Given the description of an element on the screen output the (x, y) to click on. 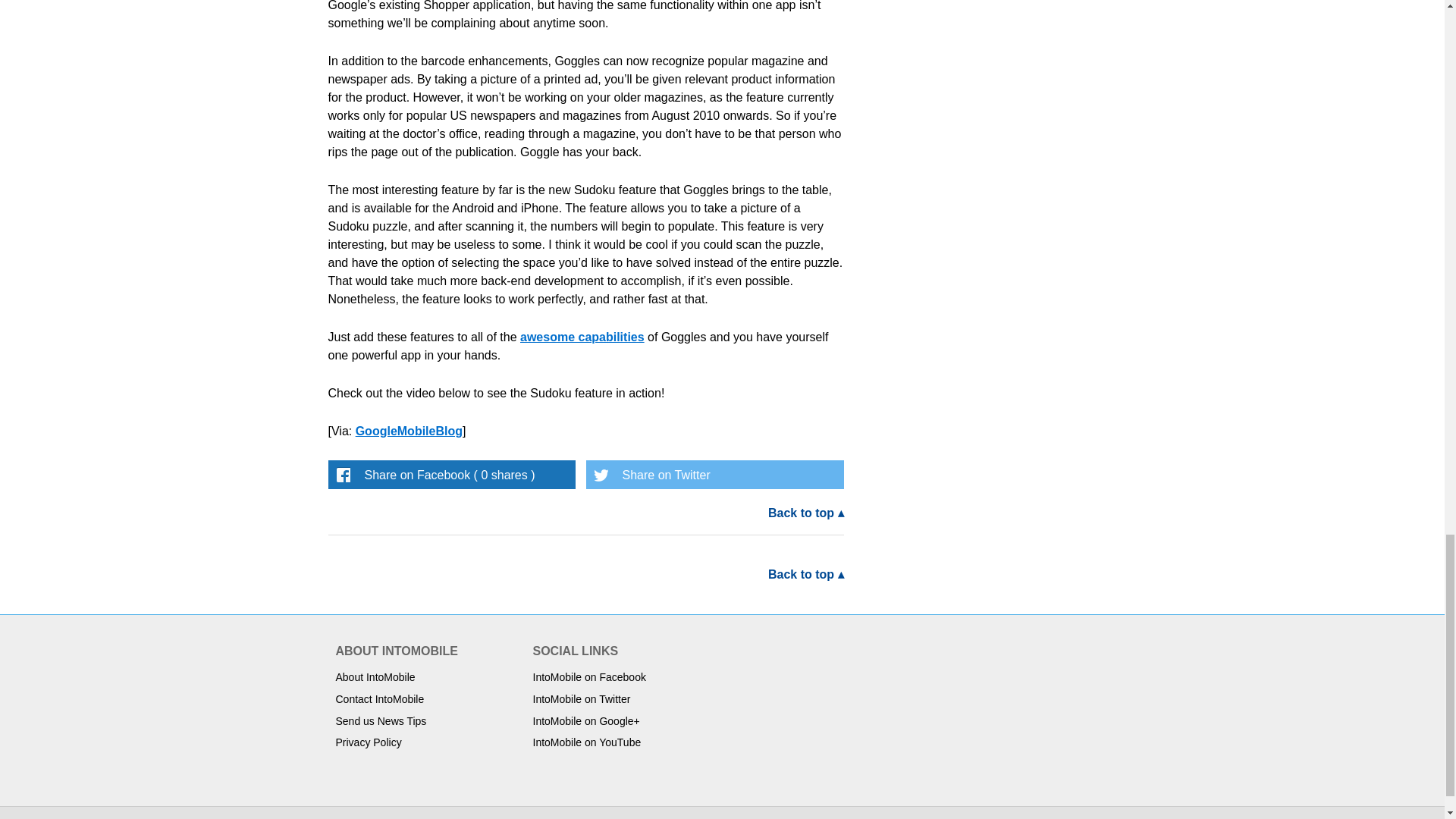
awesome capabilities (582, 336)
Share on Twitter (714, 474)
GoogleMobileBlog (409, 431)
Share on Twitter (714, 474)
